Given the description of an element on the screen output the (x, y) to click on. 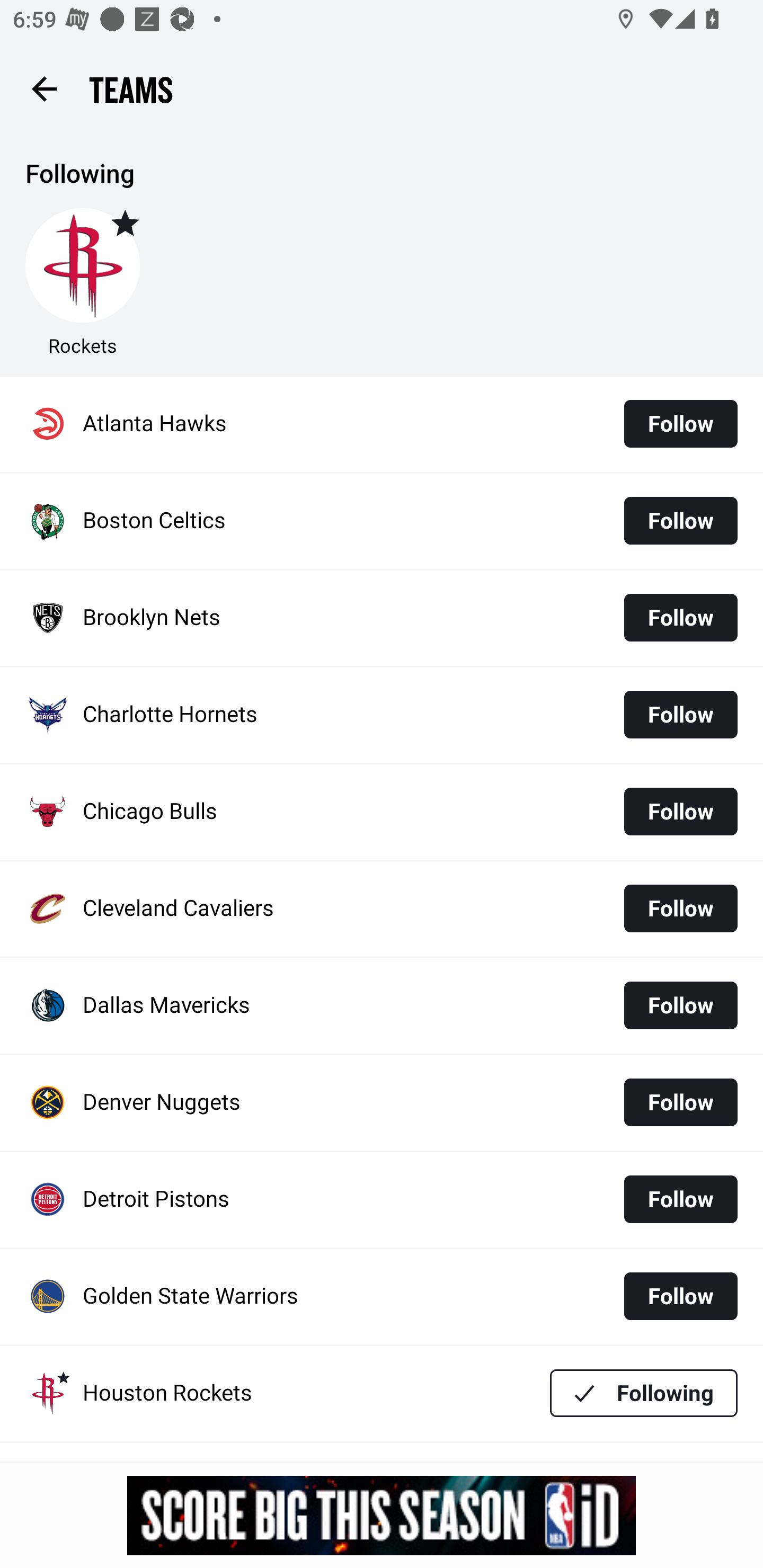
Back button (44, 88)
Atlanta Hawks Follow (381, 423)
Follow (680, 423)
Boston Celtics Follow (381, 521)
Follow (680, 520)
Brooklyn Nets Follow (381, 618)
Follow (680, 617)
Charlotte Hornets Follow (381, 714)
Follow (680, 713)
Chicago Bulls Follow (381, 812)
Follow (680, 811)
Cleveland Cavaliers Follow (381, 908)
Follow (680, 908)
Dallas Mavericks Follow (381, 1005)
Follow (680, 1005)
Denver Nuggets Follow (381, 1102)
Follow (680, 1101)
Detroit Pistons Follow (381, 1200)
Follow (680, 1199)
Golden State Warriors Follow (381, 1296)
Follow (680, 1295)
Houston Rockets Following (381, 1392)
Following (643, 1392)
g5nqqygr7owph (381, 1515)
